Given the description of an element on the screen output the (x, y) to click on. 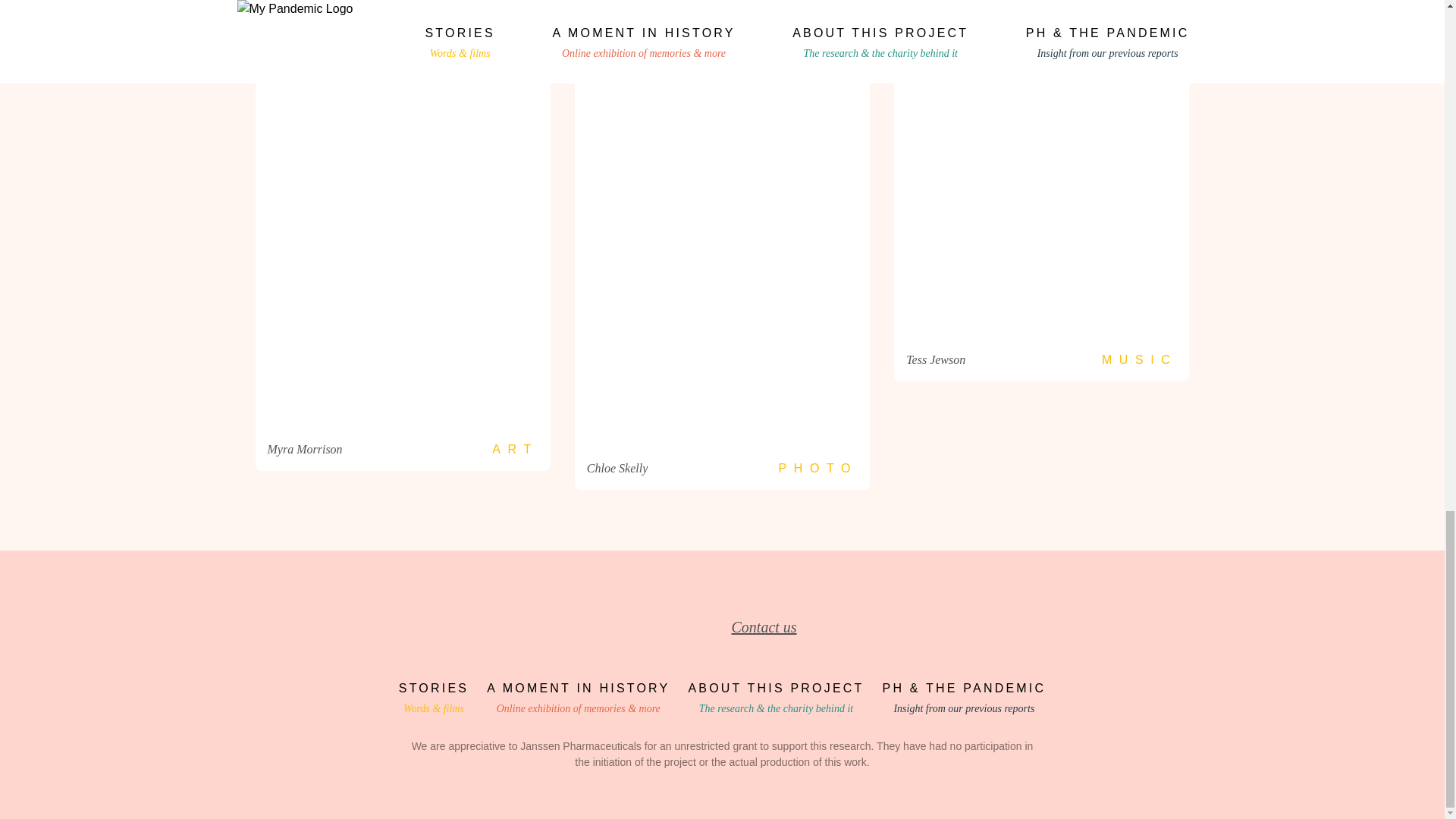
Pulmonary Hypertension Association UK (763, 627)
